Given the description of an element on the screen output the (x, y) to click on. 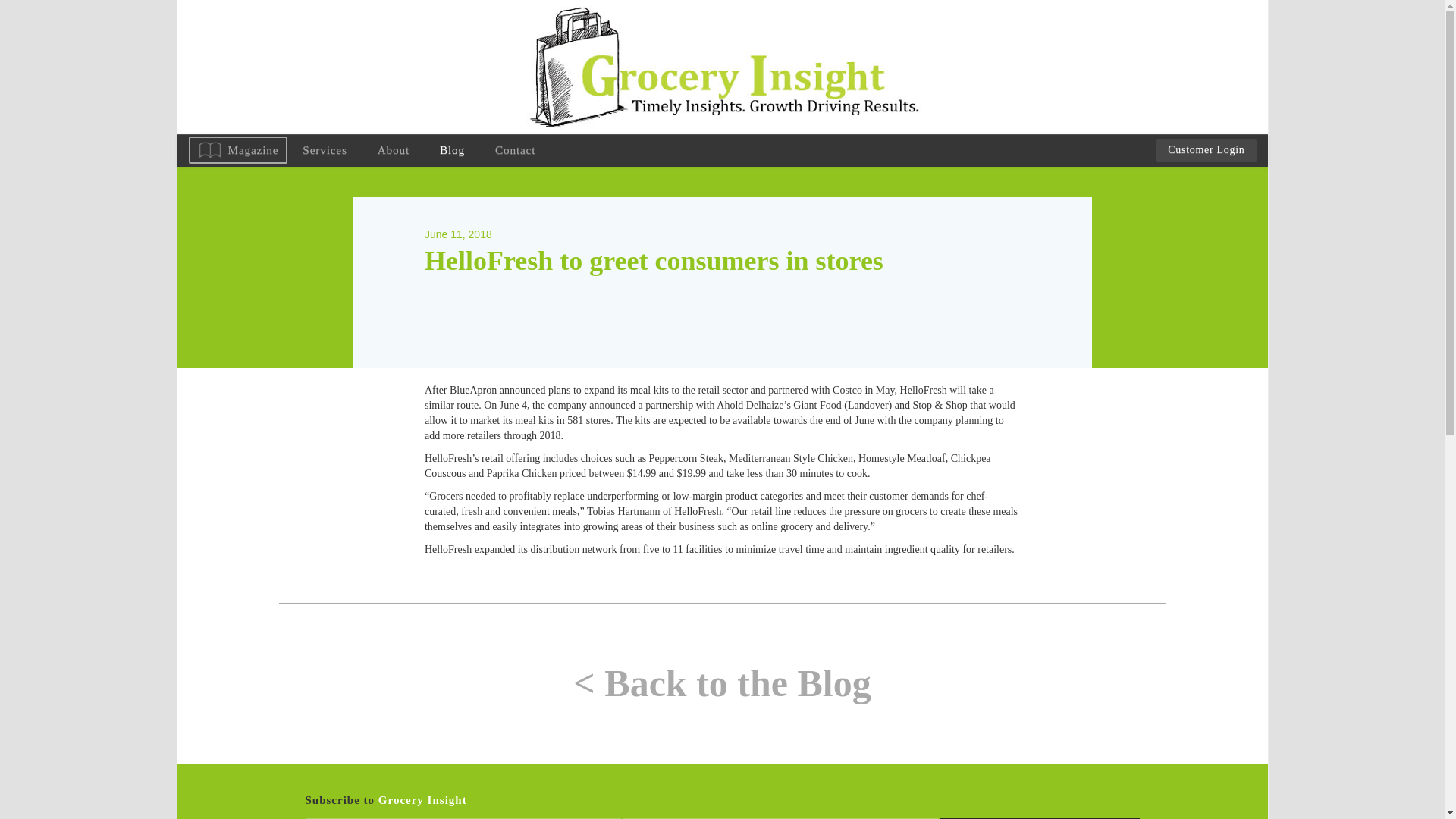
Blog (452, 149)
Services (323, 149)
Magazine (237, 150)
About (393, 149)
Contact (515, 149)
Customer Login (1205, 149)
